Given the description of an element on the screen output the (x, y) to click on. 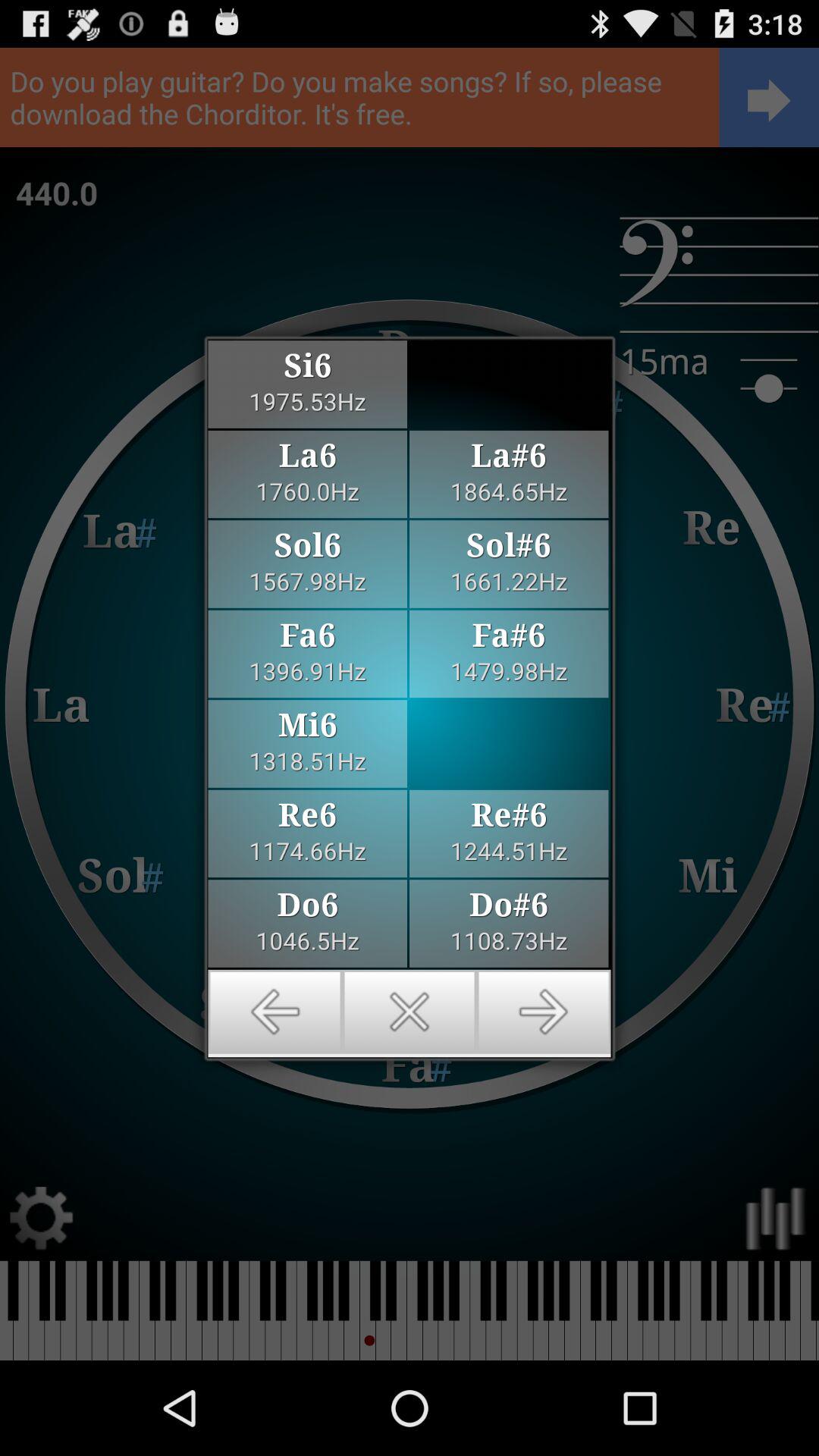
go back (275, 1011)
